Given the description of an element on the screen output the (x, y) to click on. 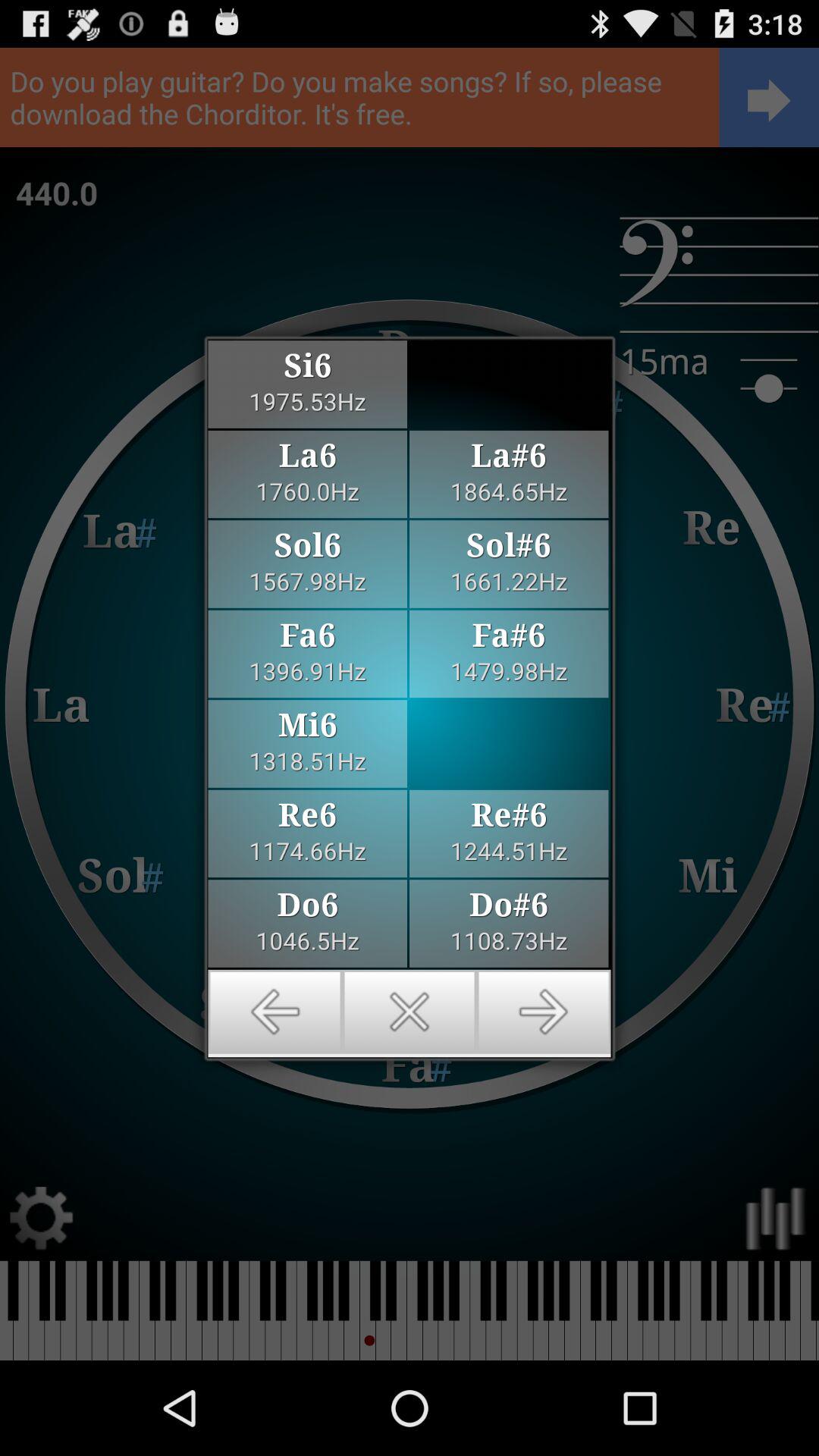
go back (275, 1011)
